Given the description of an element on the screen output the (x, y) to click on. 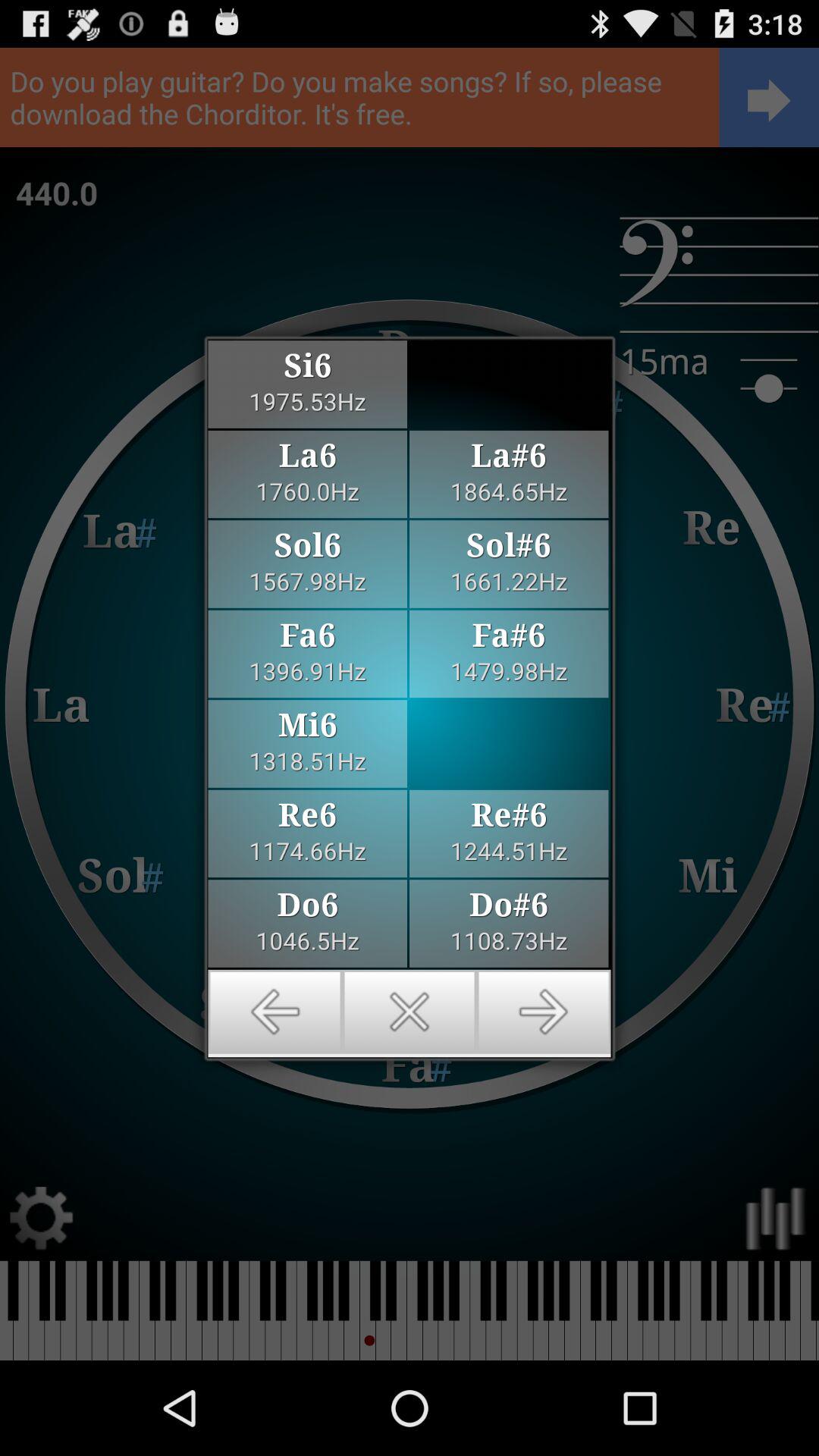
go back (275, 1011)
